Given the description of an element on the screen output the (x, y) to click on. 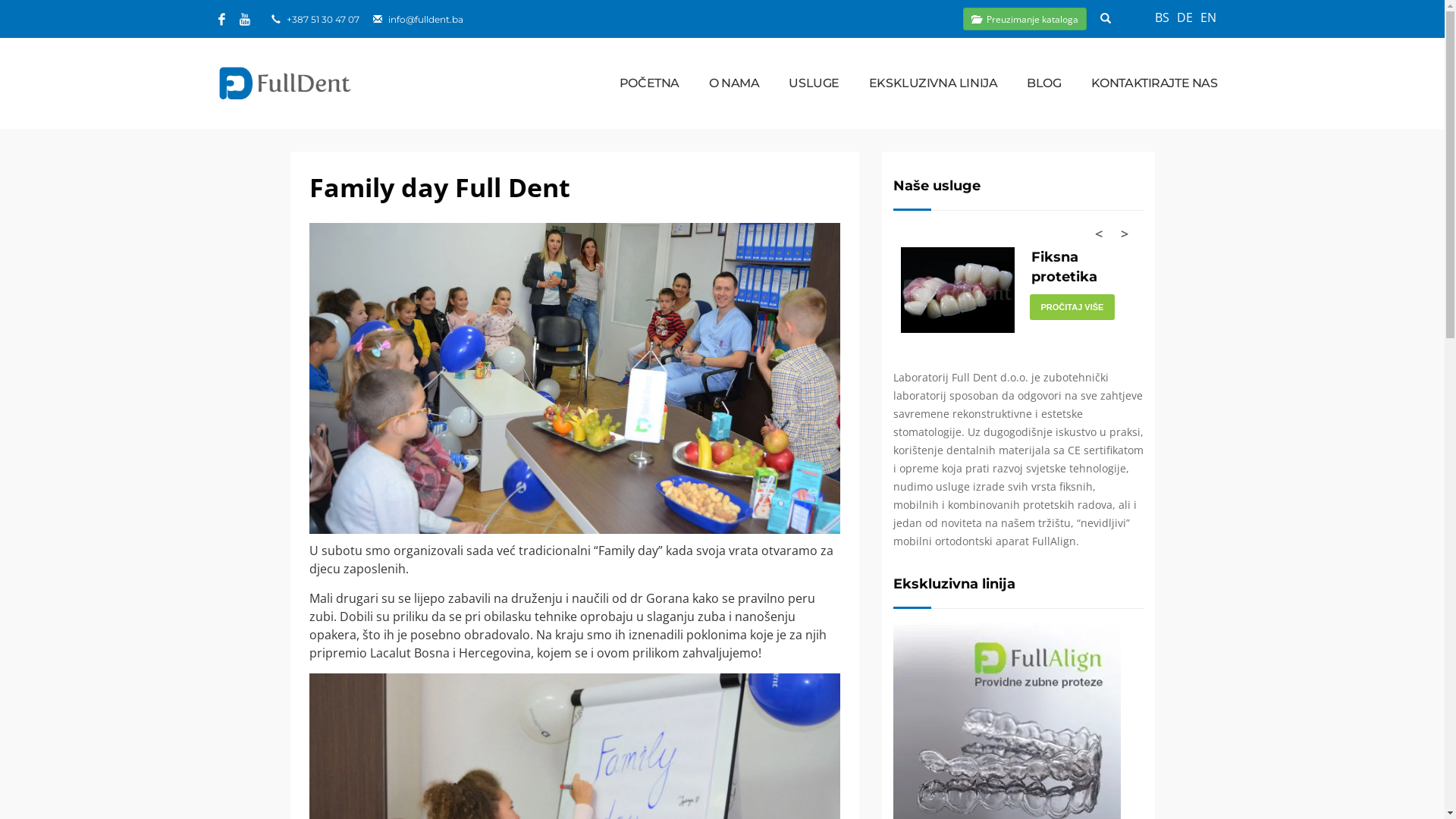
Youtube Element type: hover (244, 18)
EN Element type: text (1208, 17)
USLUGE Element type: text (813, 83)
DE Element type: text (1184, 17)
KONTAKTIRAJTE NAS Element type: text (1154, 83)
Facebook Element type: hover (221, 18)
Preuzimanje kataloga Element type: text (1024, 18)
> Element type: text (1116, 235)
+387 51 30 47 07 Element type: text (322, 19)
O NAMA Element type: text (733, 83)
info@fulldent.ba Element type: text (425, 19)
BS Element type: text (1161, 17)
< Element type: text (1090, 235)
EKSKLUZIVNA LINIJA Element type: text (932, 83)
BLOG Element type: text (1043, 83)
